Given the description of an element on the screen output the (x, y) to click on. 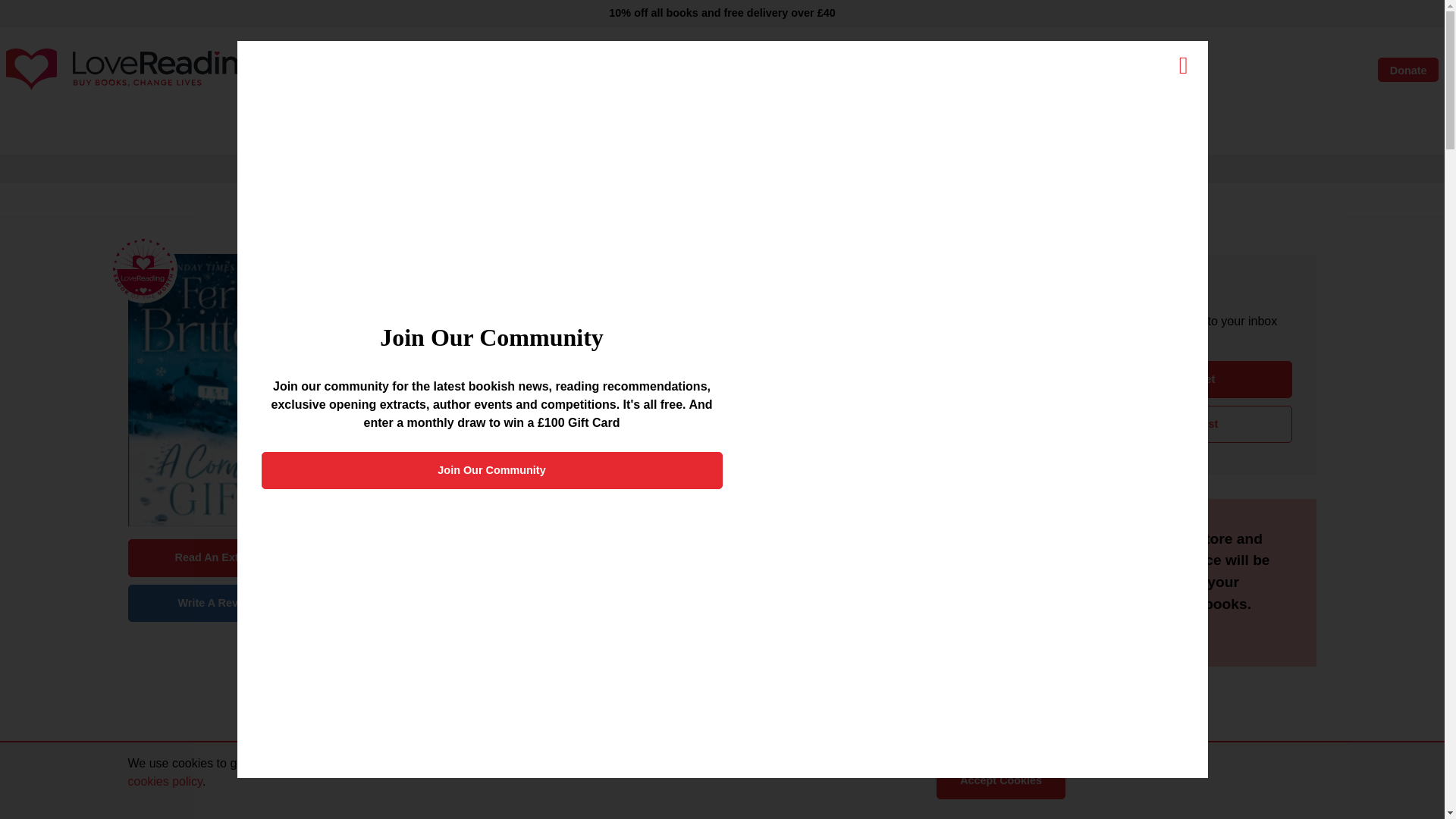
Search Now (860, 69)
Non-Fiction (577, 133)
Donate (1407, 69)
Person Circle (1232, 69)
Heart (1278, 69)
Fiction (504, 133)
Add To Basket (1176, 379)
Basket (1324, 69)
New (449, 133)
